Given the description of an element on the screen output the (x, y) to click on. 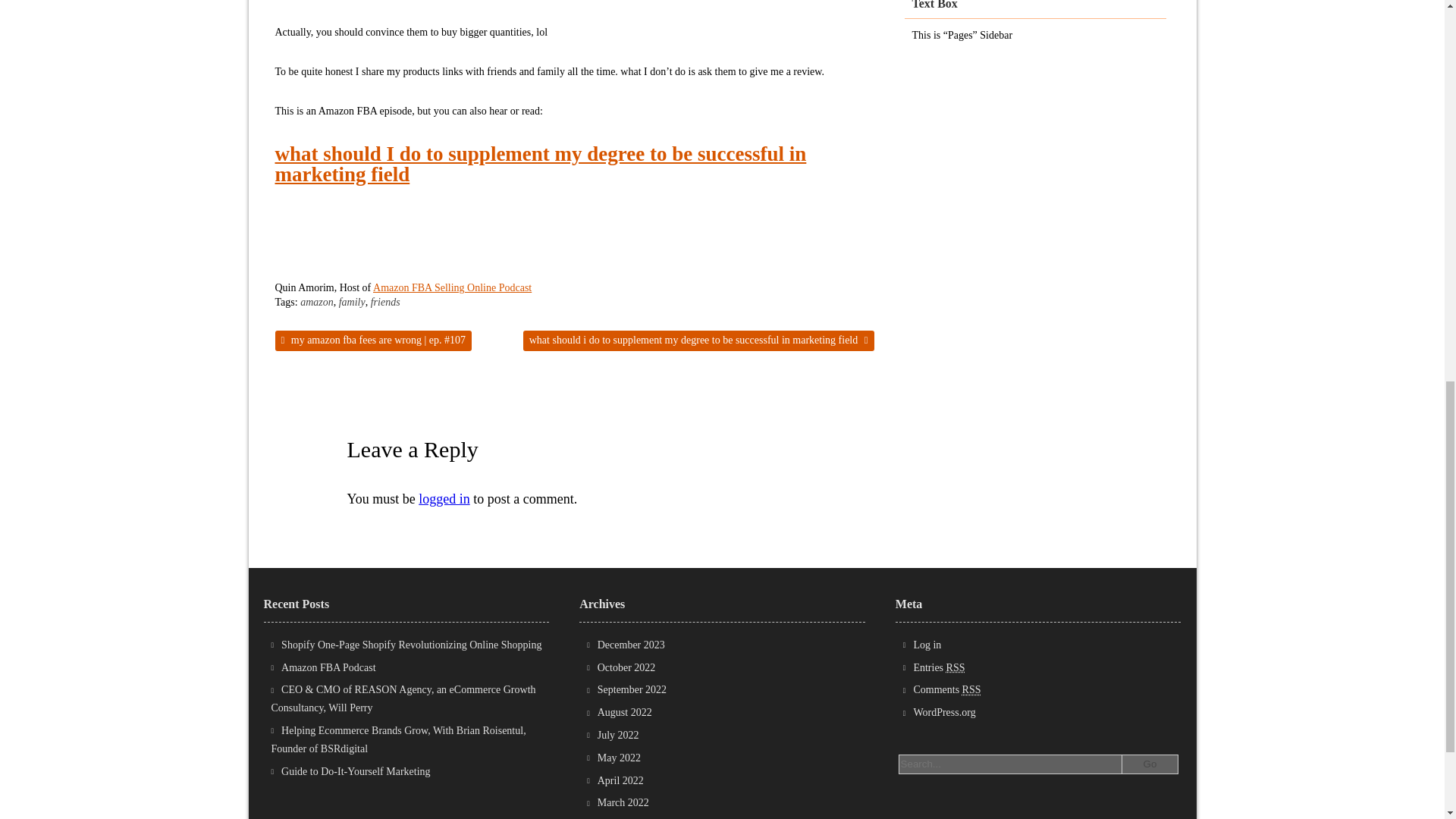
Really Simple Syndication (955, 667)
Shopify One-Page Shopify Revolutionizing Online Shopping (411, 644)
amazon (316, 302)
Amazon FBA Selling Online Podcast (451, 287)
December 2023 (630, 644)
May 2022 (618, 757)
Guide to Do-It-Yourself Marketing  (356, 771)
July 2022 (617, 735)
